Given the description of an element on the screen output the (x, y) to click on. 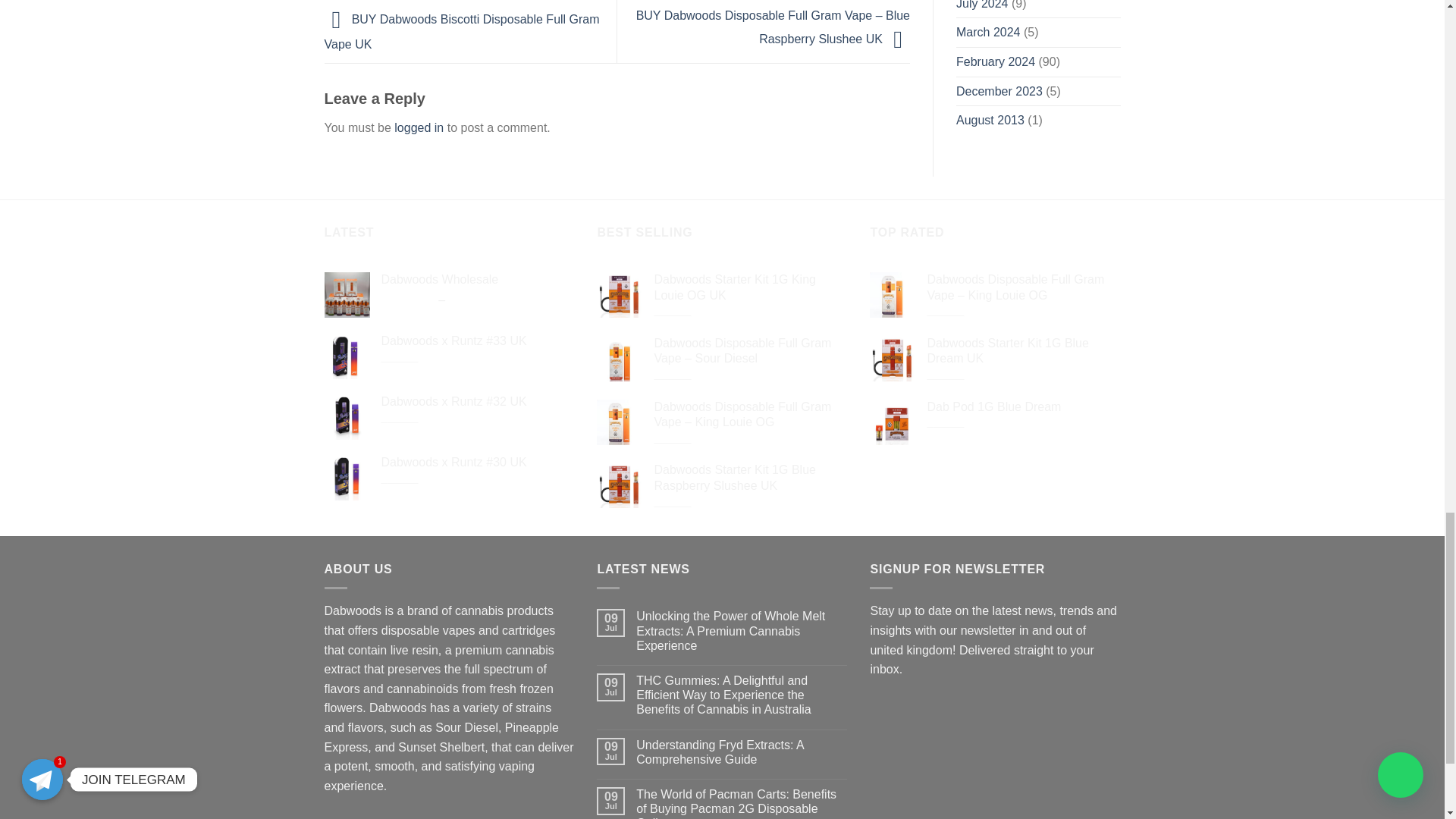
Understanding Fryd Extracts: A Comprehensive Guide (741, 751)
BUY Dabwoods Biscotti Disposable Full Gram Vape UK (461, 32)
